Given the description of an element on the screen output the (x, y) to click on. 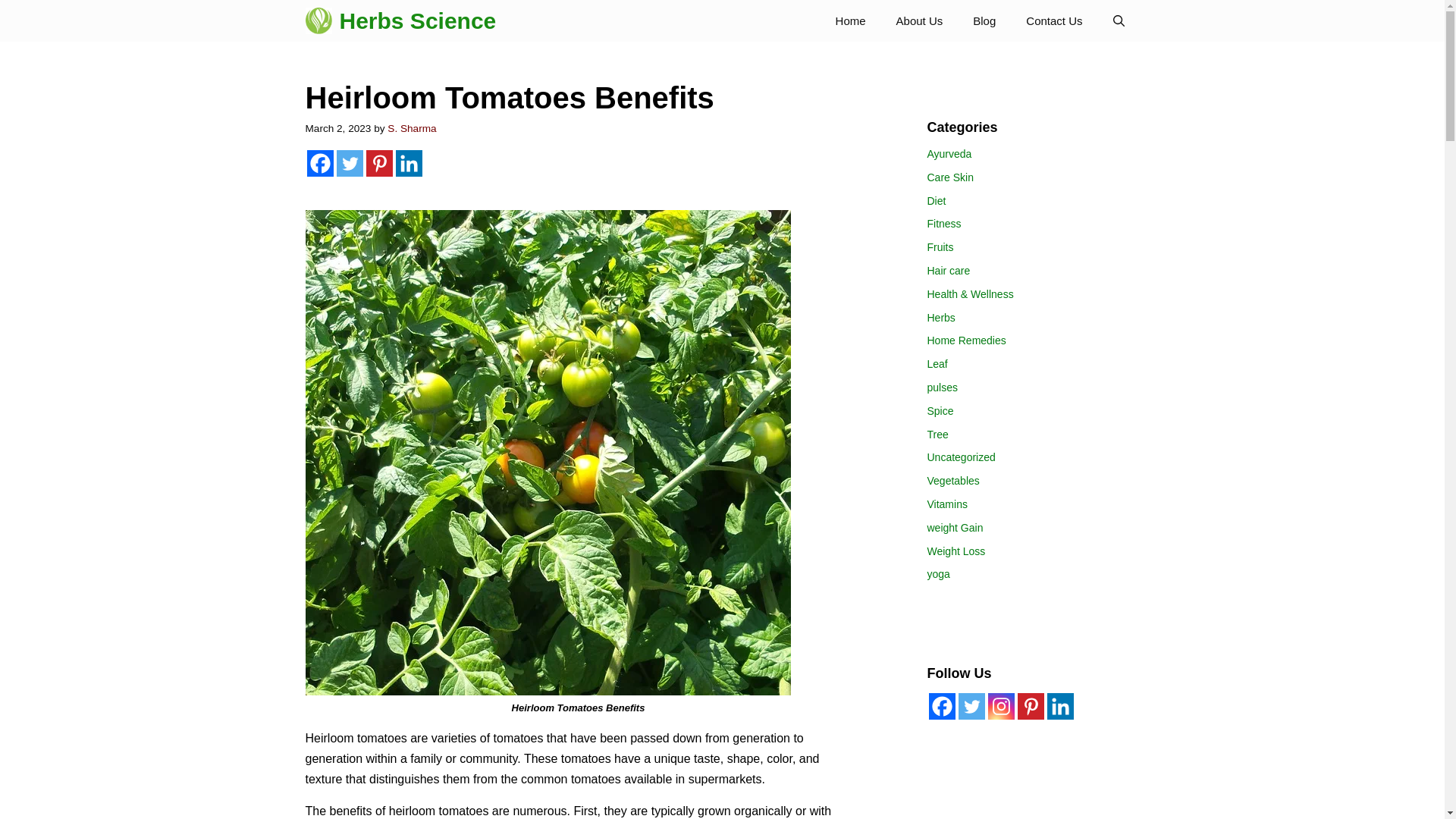
Linkedin (409, 162)
View all posts by S. Sharma (411, 128)
Facebook (319, 162)
Ayurveda (948, 153)
S. Sharma (411, 128)
Twitter (349, 162)
Home (850, 20)
Blog (984, 20)
About Us (919, 20)
Contact Us (1053, 20)
Facebook (941, 705)
Pinterest (378, 162)
Herbs Science (417, 20)
